Given the description of an element on the screen output the (x, y) to click on. 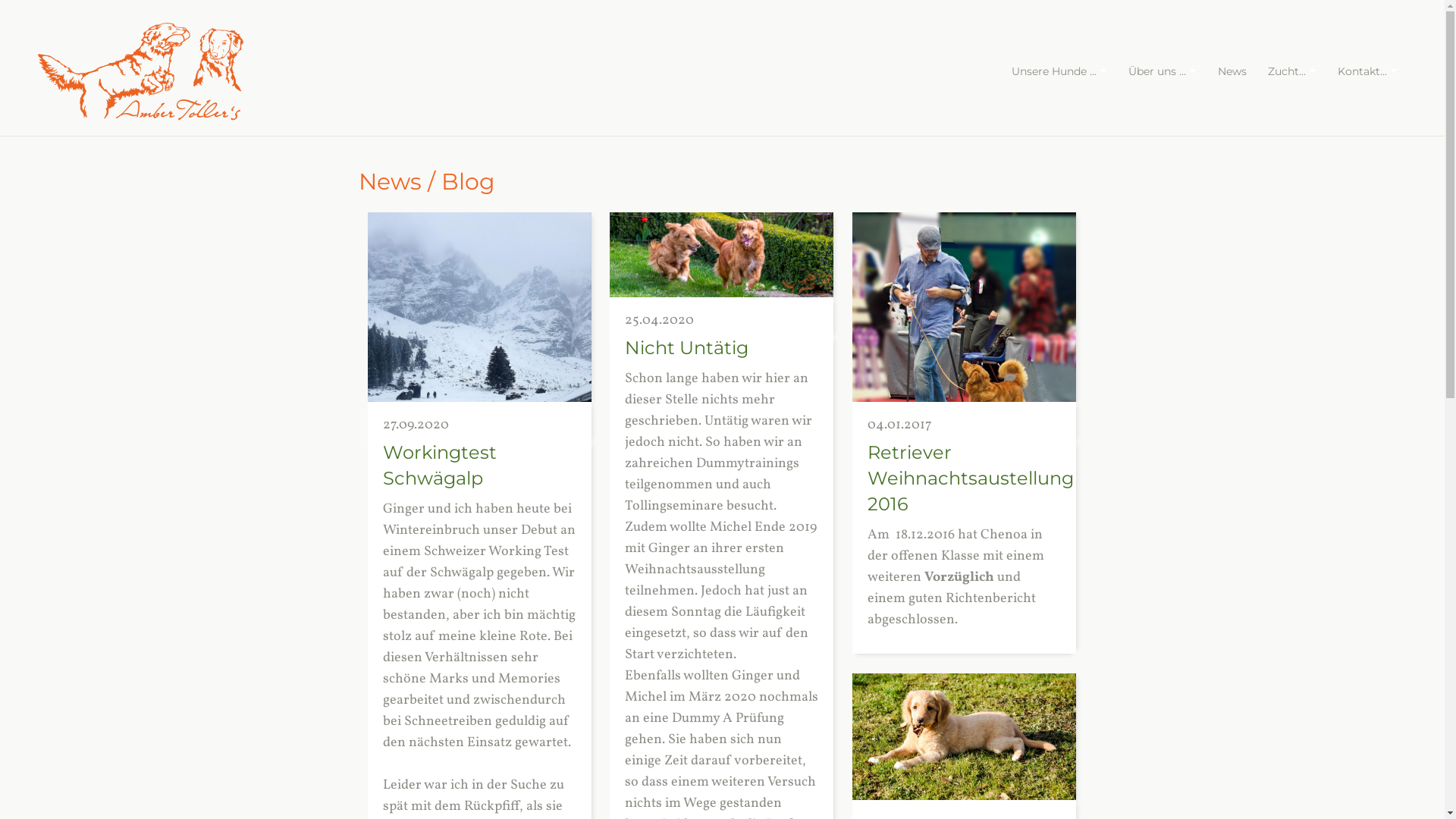
Amber Toller's Element type: hover (140, 71)
Retriever Weihnachtsaustellung 2016 Element type: text (970, 477)
News Element type: text (1231, 71)
